Given the description of an element on the screen output the (x, y) to click on. 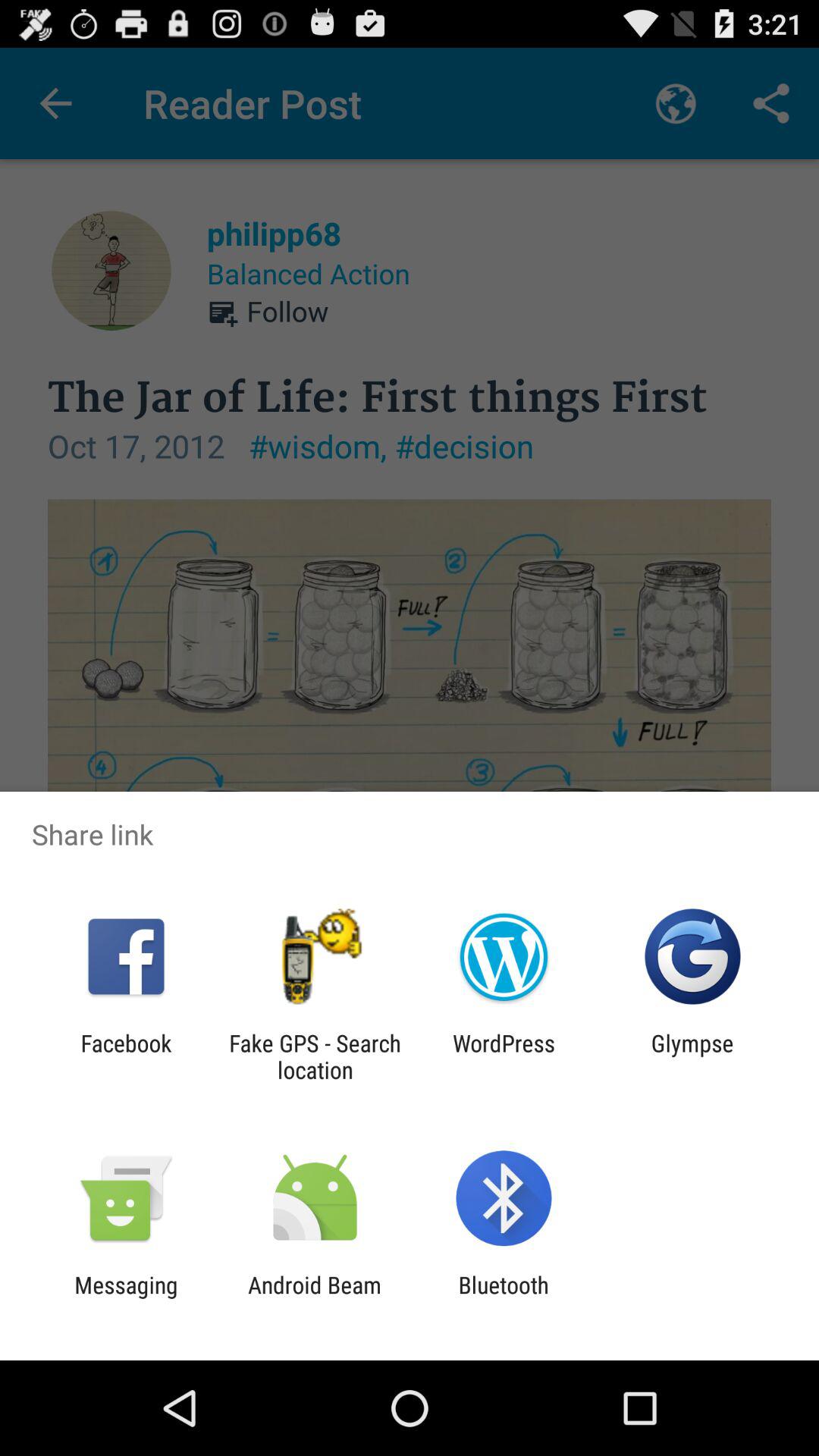
launch the bluetooth item (503, 1298)
